Given the description of an element on the screen output the (x, y) to click on. 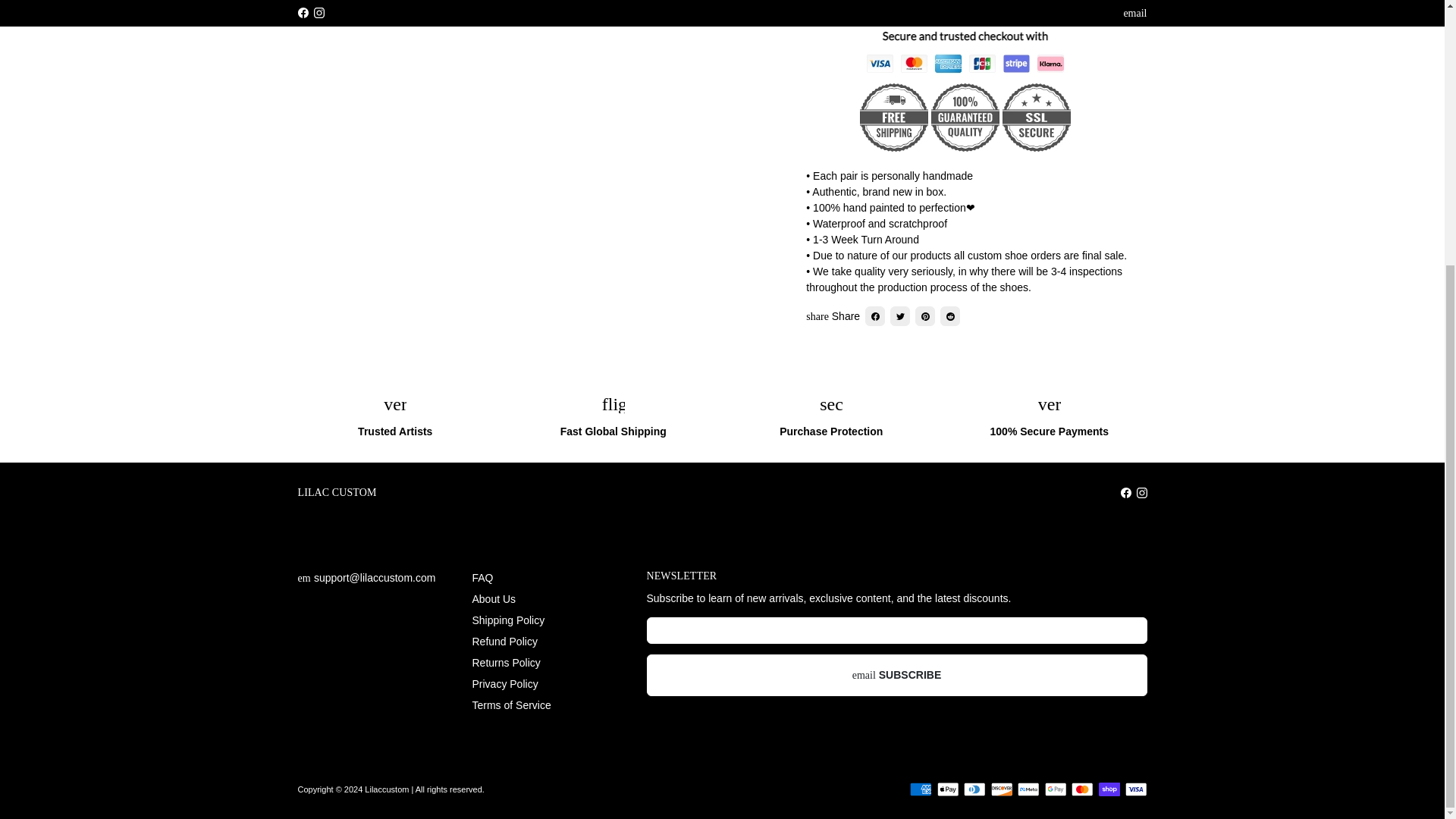
Meta Pay (1028, 789)
Apple Pay (948, 789)
Google Pay (1056, 789)
Visa (1136, 789)
Share on Facebook (874, 315)
American Express (920, 789)
Diners Club (974, 789)
Mastercard (1082, 789)
Tweet on Twitter (899, 315)
Discover (1000, 789)
